Given the description of an element on the screen output the (x, y) to click on. 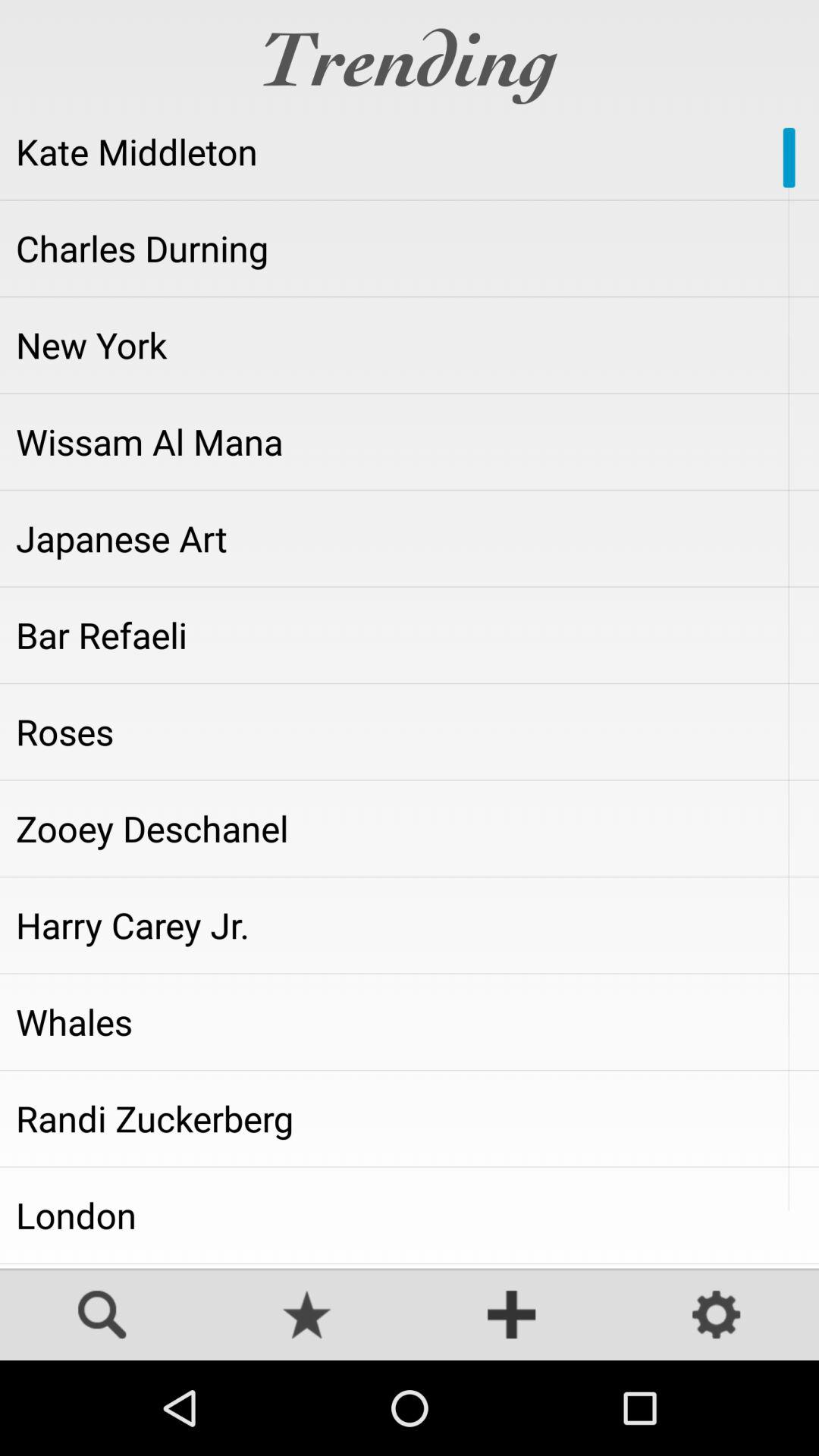
open the app below the trending item (409, 151)
